Given the description of an element on the screen output the (x, y) to click on. 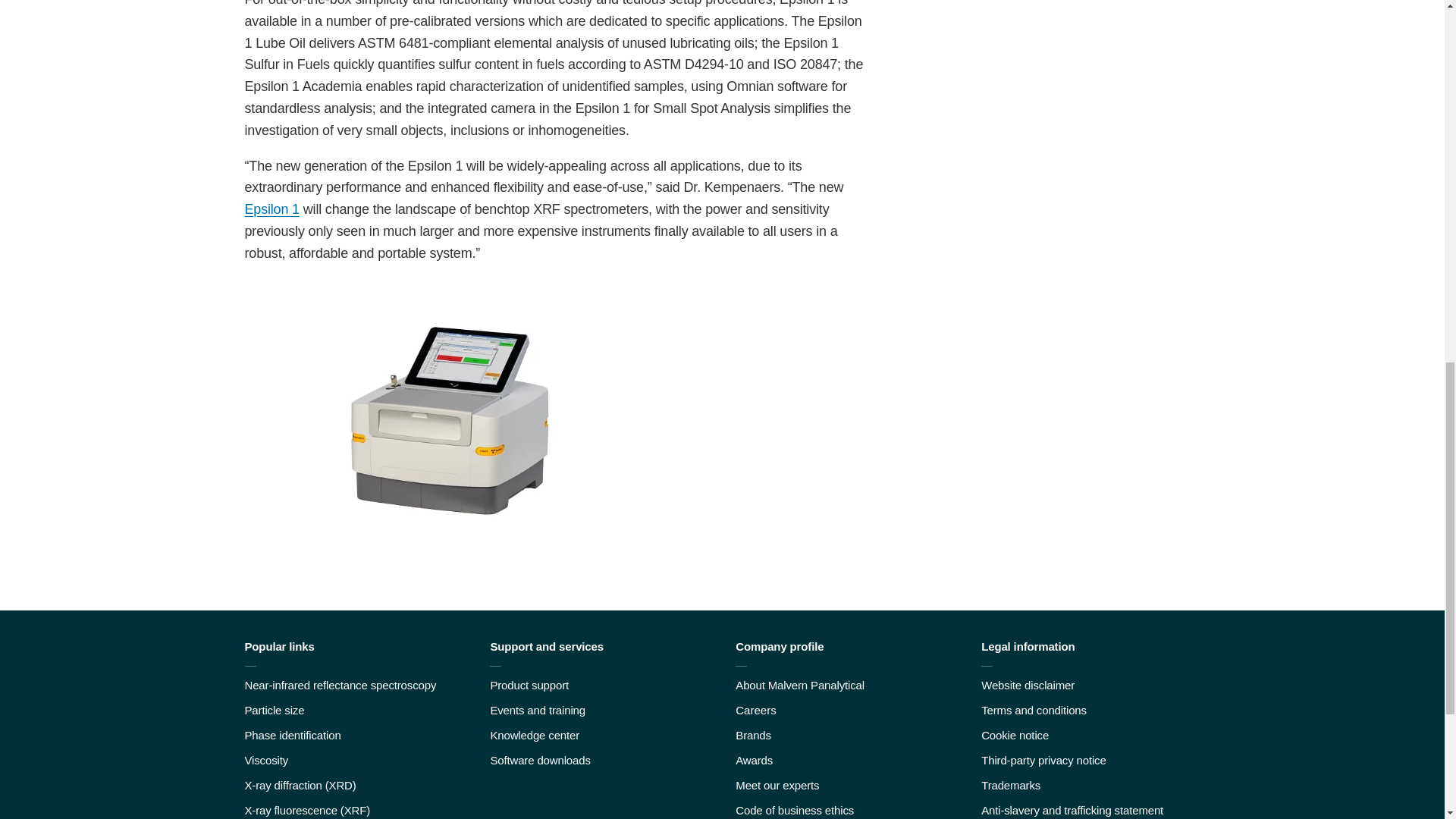
Near-infrared reflectance spectroscopy (339, 684)
Product support (529, 684)
Awards (754, 759)
Brands (753, 735)
Knowledge Centre (534, 735)
Events and training (537, 709)
Epsilon 1 (271, 209)
Software downloads (539, 759)
Viscosity (266, 759)
Near-infrared reflectance spectroscopy (339, 684)
